Given the description of an element on the screen output the (x, y) to click on. 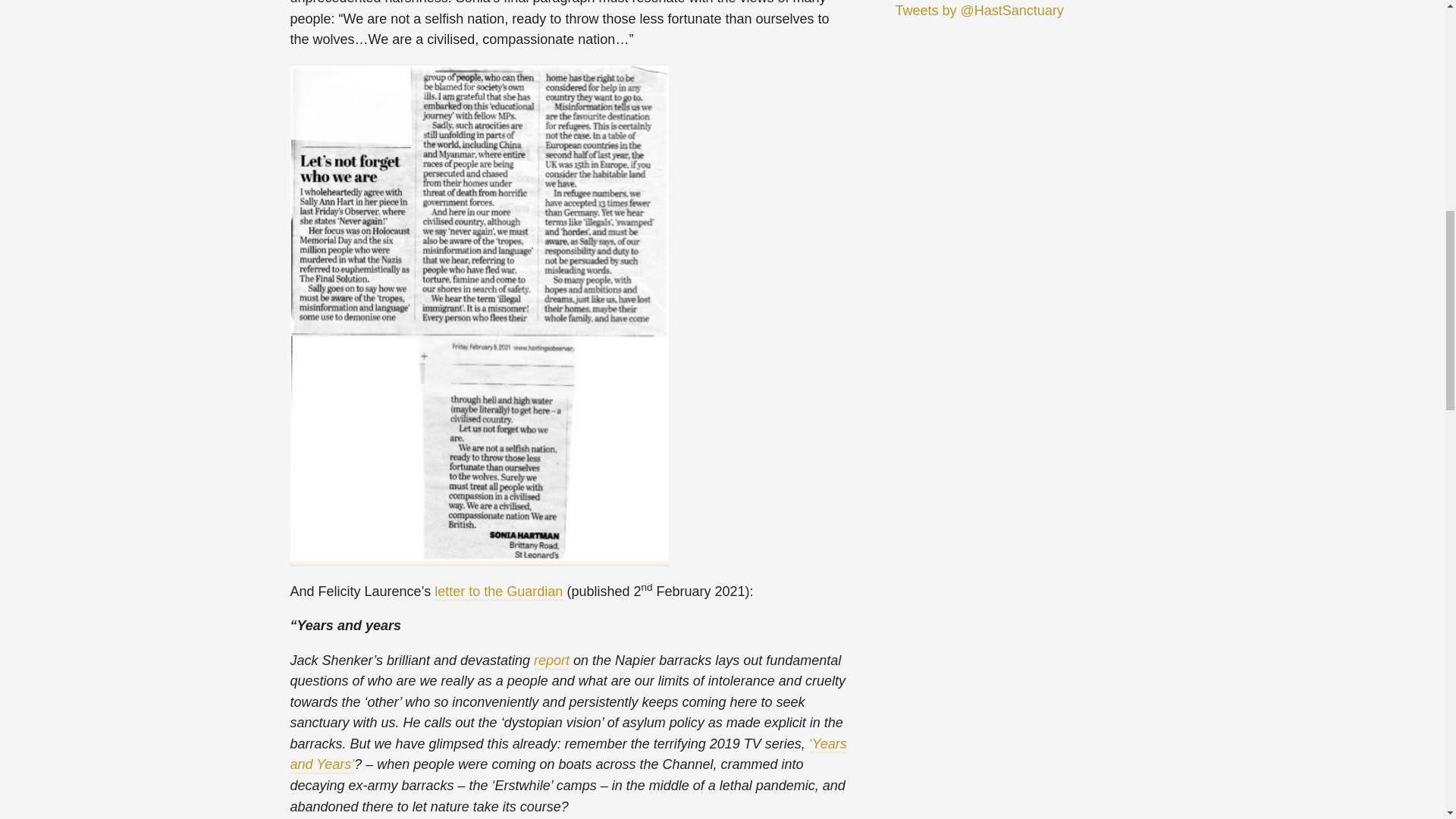
letter to the Guardian (497, 590)
report (551, 660)
